Given the description of an element on the screen output the (x, y) to click on. 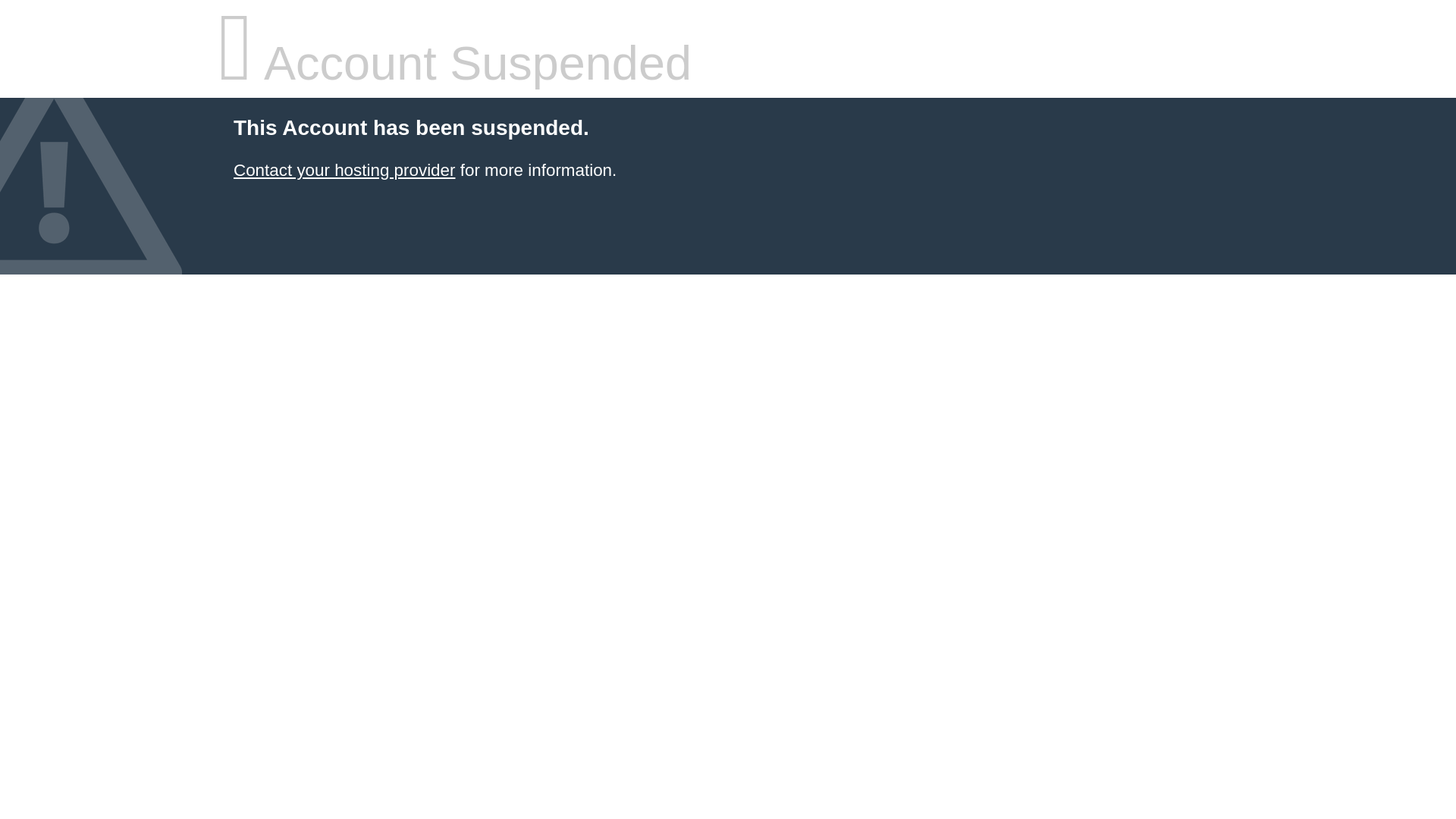
Contact your hosting provider (343, 169)
